Given the description of an element on the screen output the (x, y) to click on. 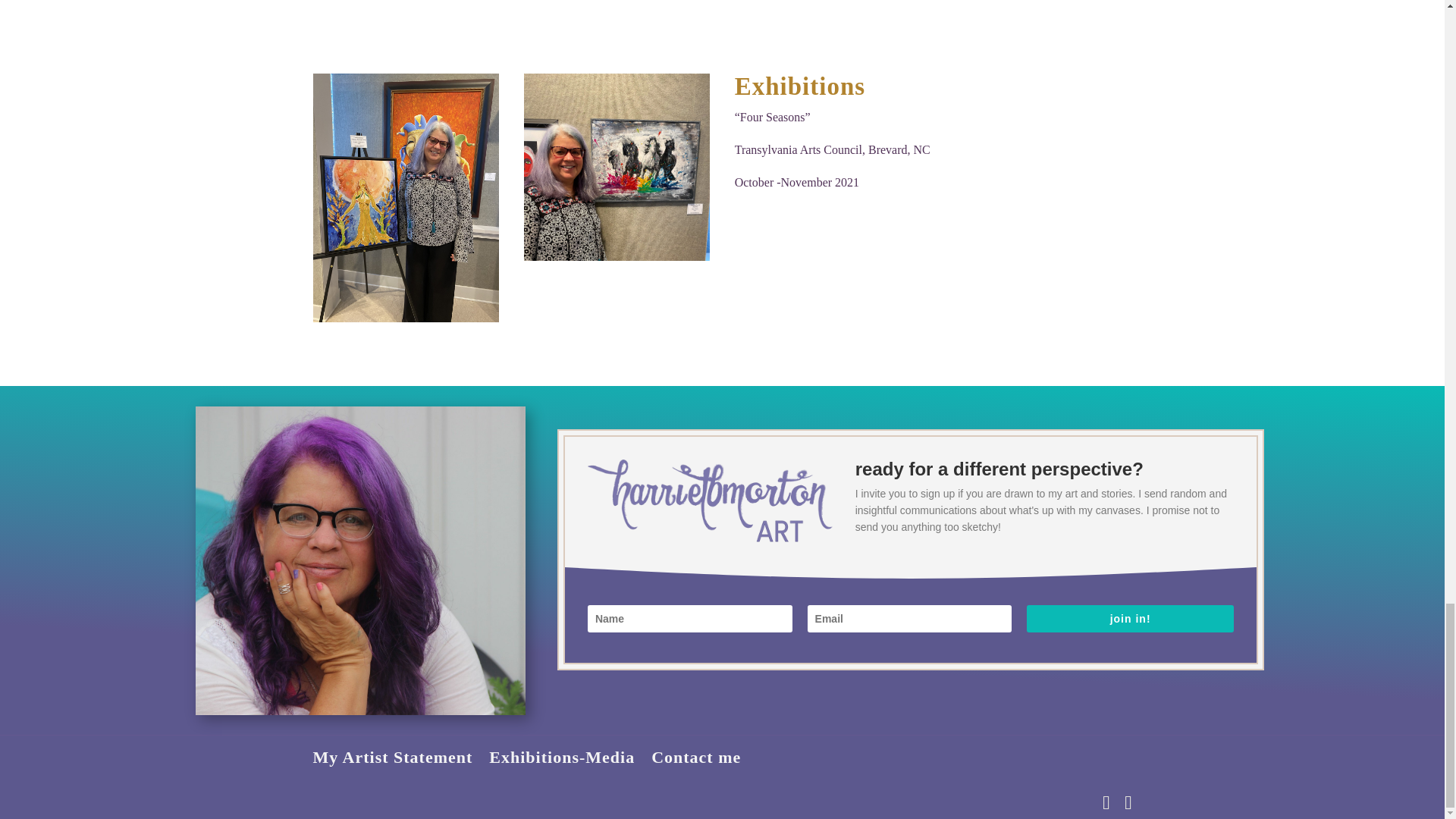
join in! (1129, 618)
Contact me (695, 756)
My Artist Statement (392, 756)
Exhibitions-Media (561, 756)
06522289-8231-41FE-8463-A622F2A4743A (617, 167)
Harrietclosup4 (360, 560)
